Given the description of an element on the screen output the (x, y) to click on. 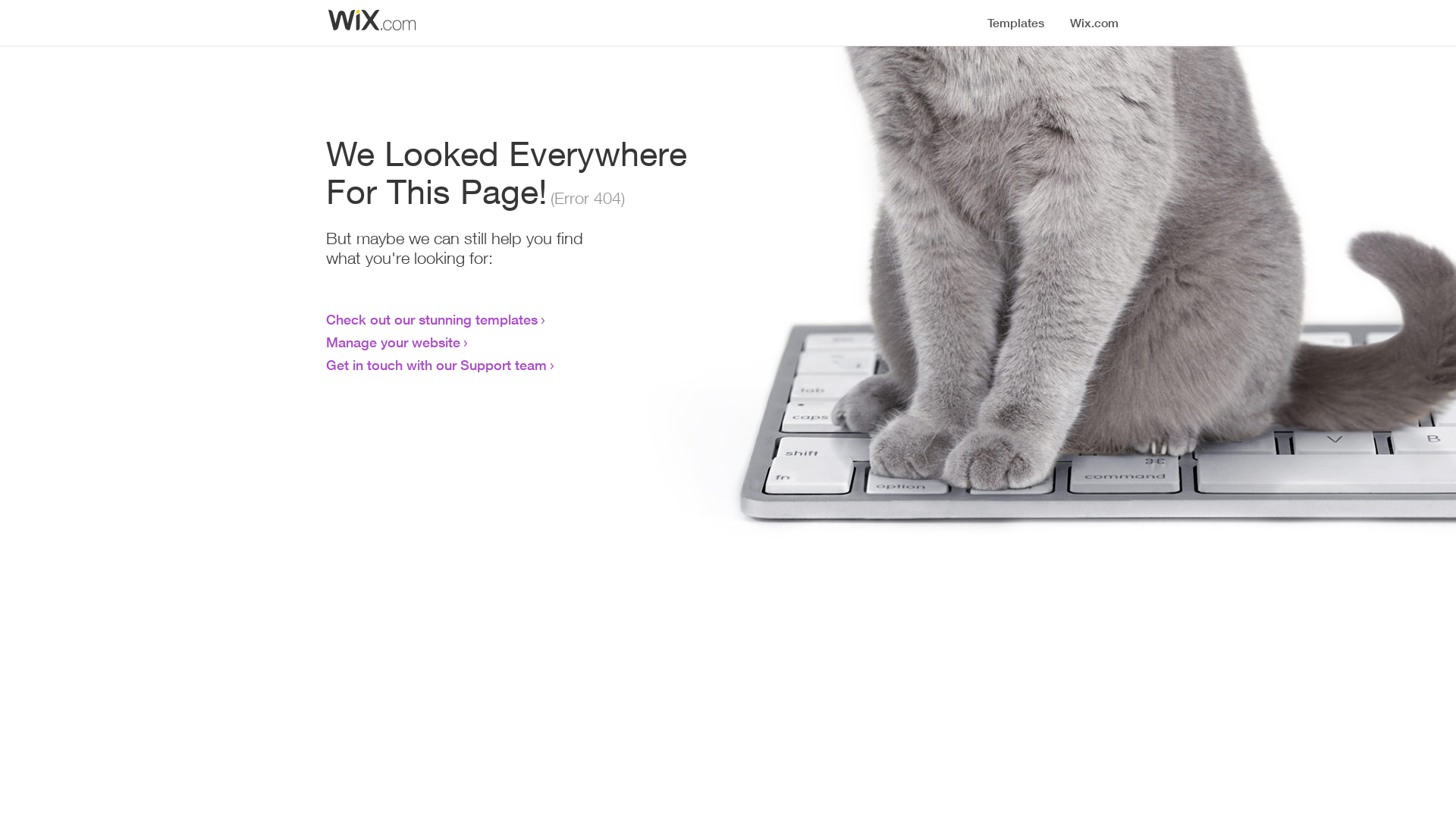
Check out our stunning templates Element type: text (431, 318)
Manage your website Element type: text (393, 341)
Get in touch with our Support team Element type: text (436, 364)
